Given the description of an element on the screen output the (x, y) to click on. 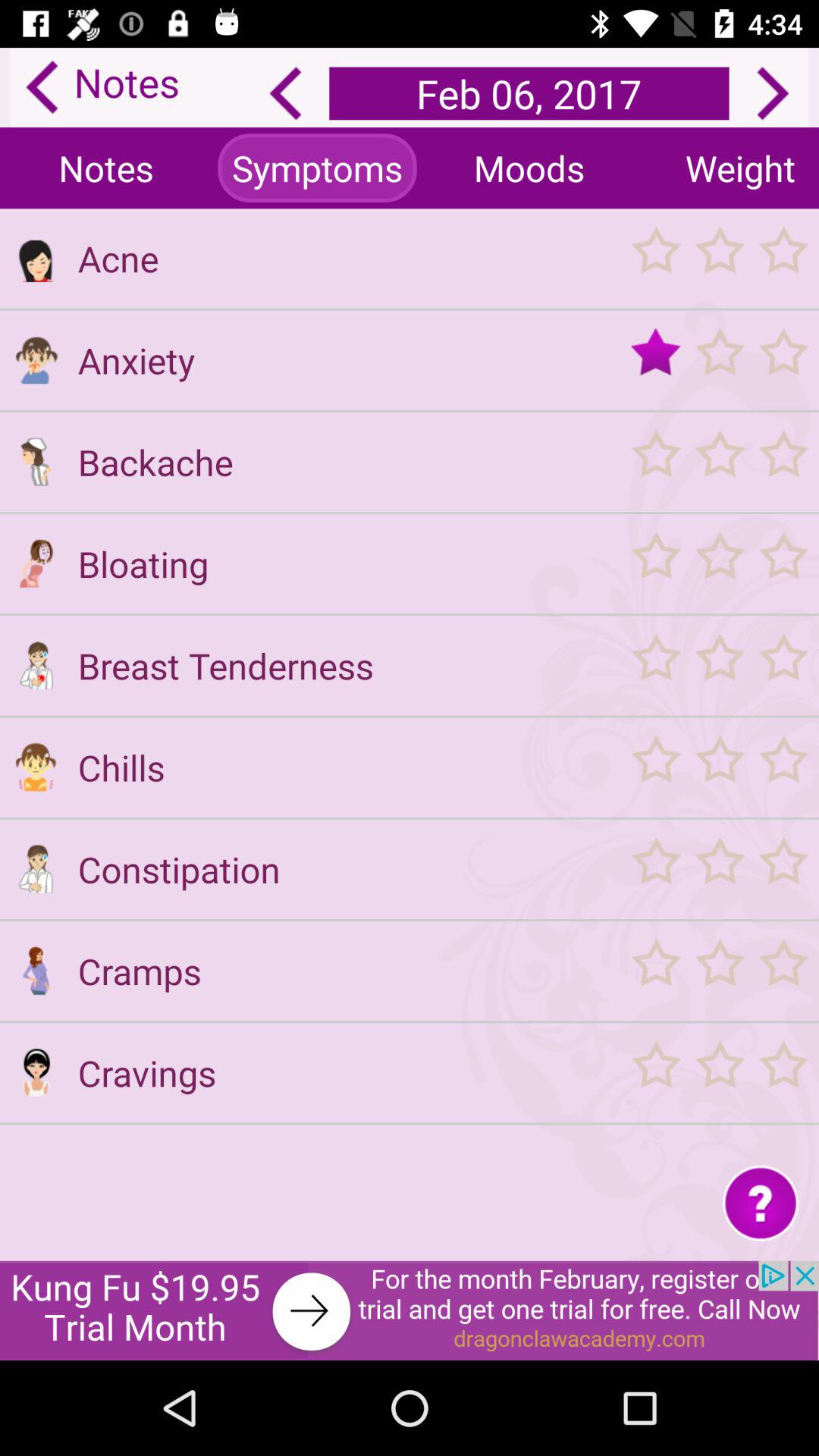
go to star readding (719, 665)
